Given the description of an element on the screen output the (x, y) to click on. 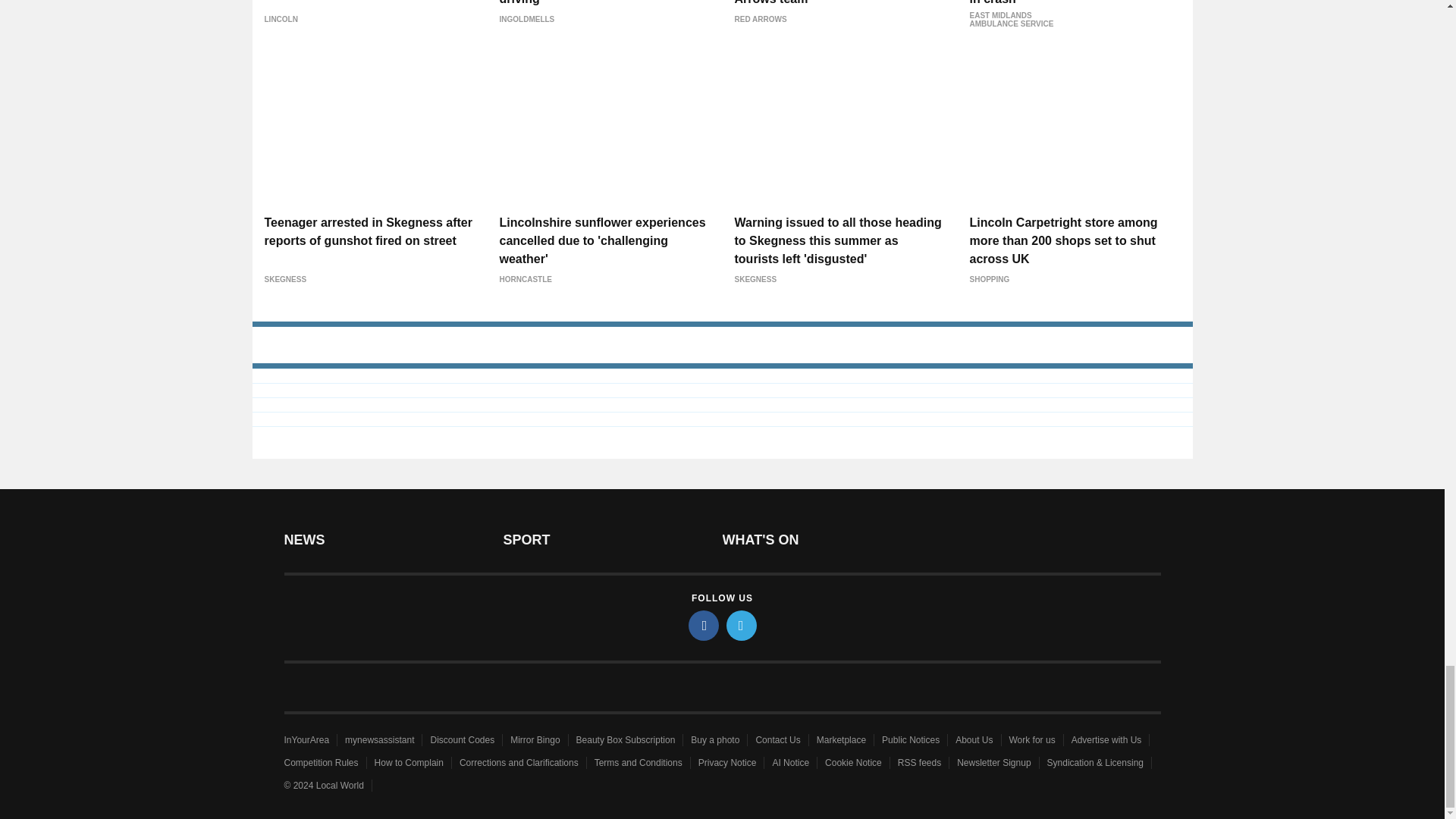
twitter (741, 625)
facebook (703, 625)
